Given the description of an element on the screen output the (x, y) to click on. 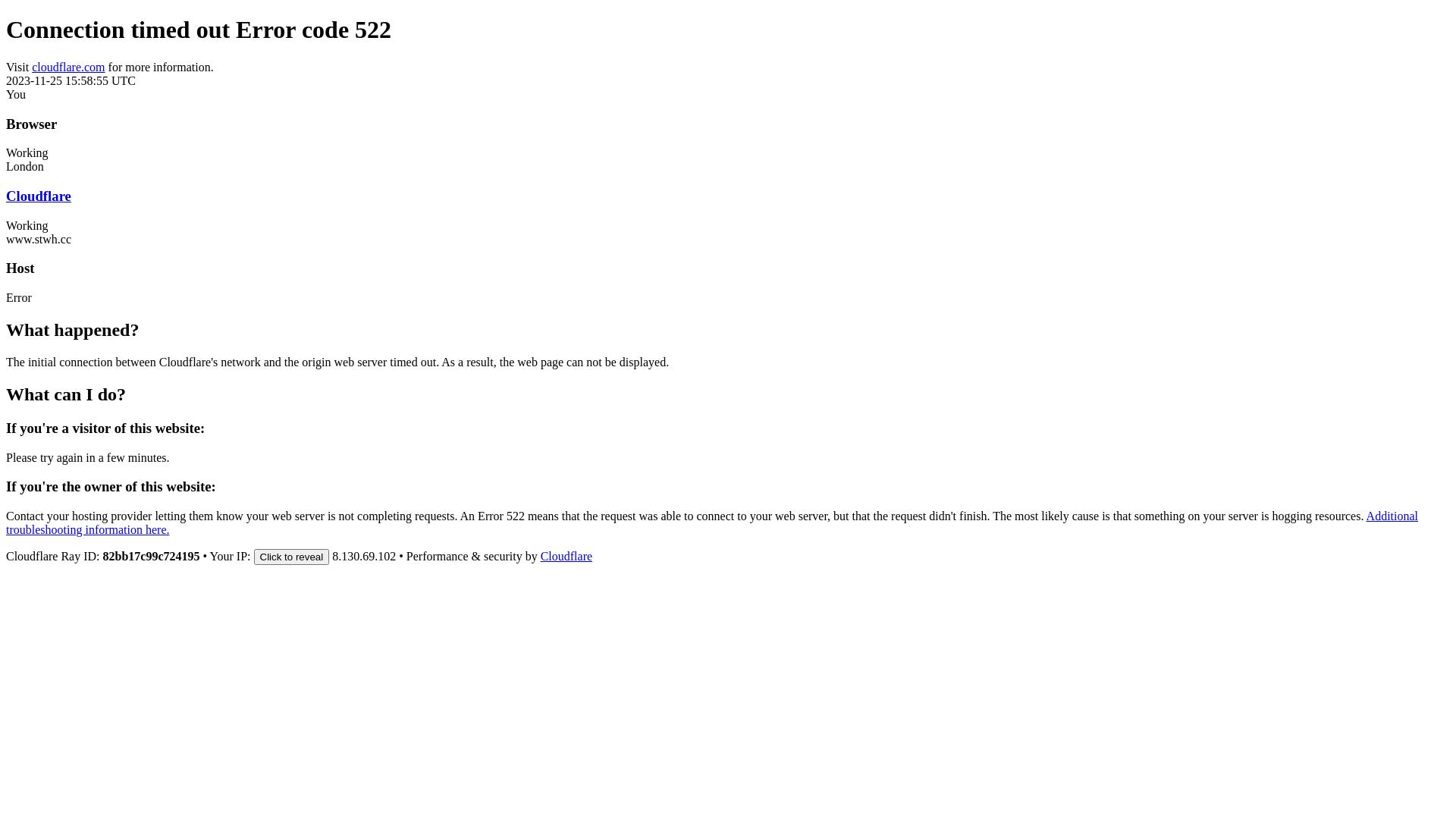
Additional troubleshooting information here. Element type: text (712, 522)
cloudflare.com Element type: text (67, 66)
Cloudflare Element type: text (566, 555)
Cloudflare Element type: text (38, 195)
Click to reveal Element type: text (291, 556)
